Given the description of an element on the screen output the (x, y) to click on. 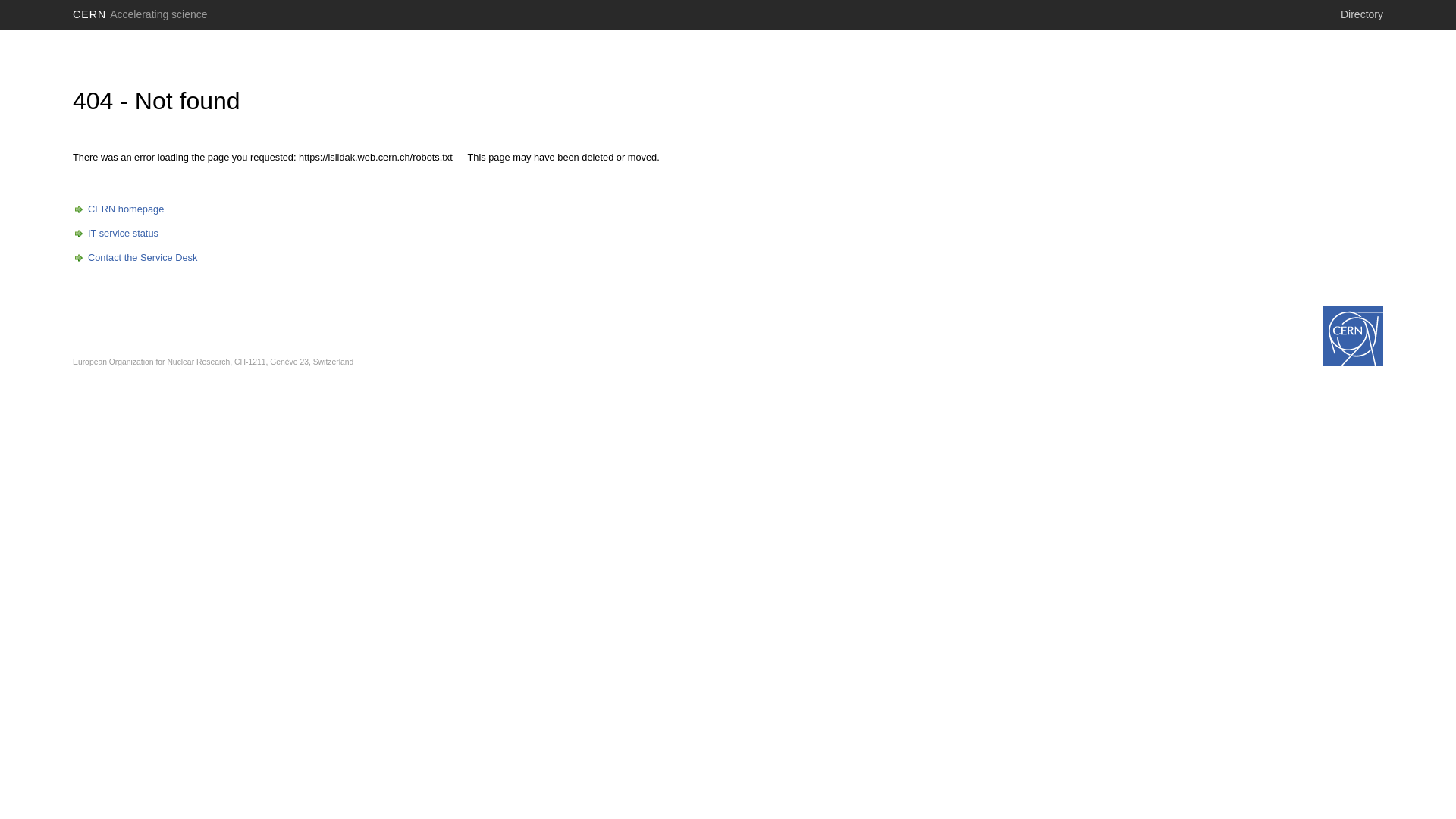
CERN Accelerating science Element type: text (139, 14)
Directory Element type: text (1361, 14)
Contact the Service Desk Element type: text (134, 257)
CERN homepage Element type: text (117, 208)
www.cern.ch Element type: hover (1352, 335)
IT service status Element type: text (115, 232)
